Given the description of an element on the screen output the (x, y) to click on. 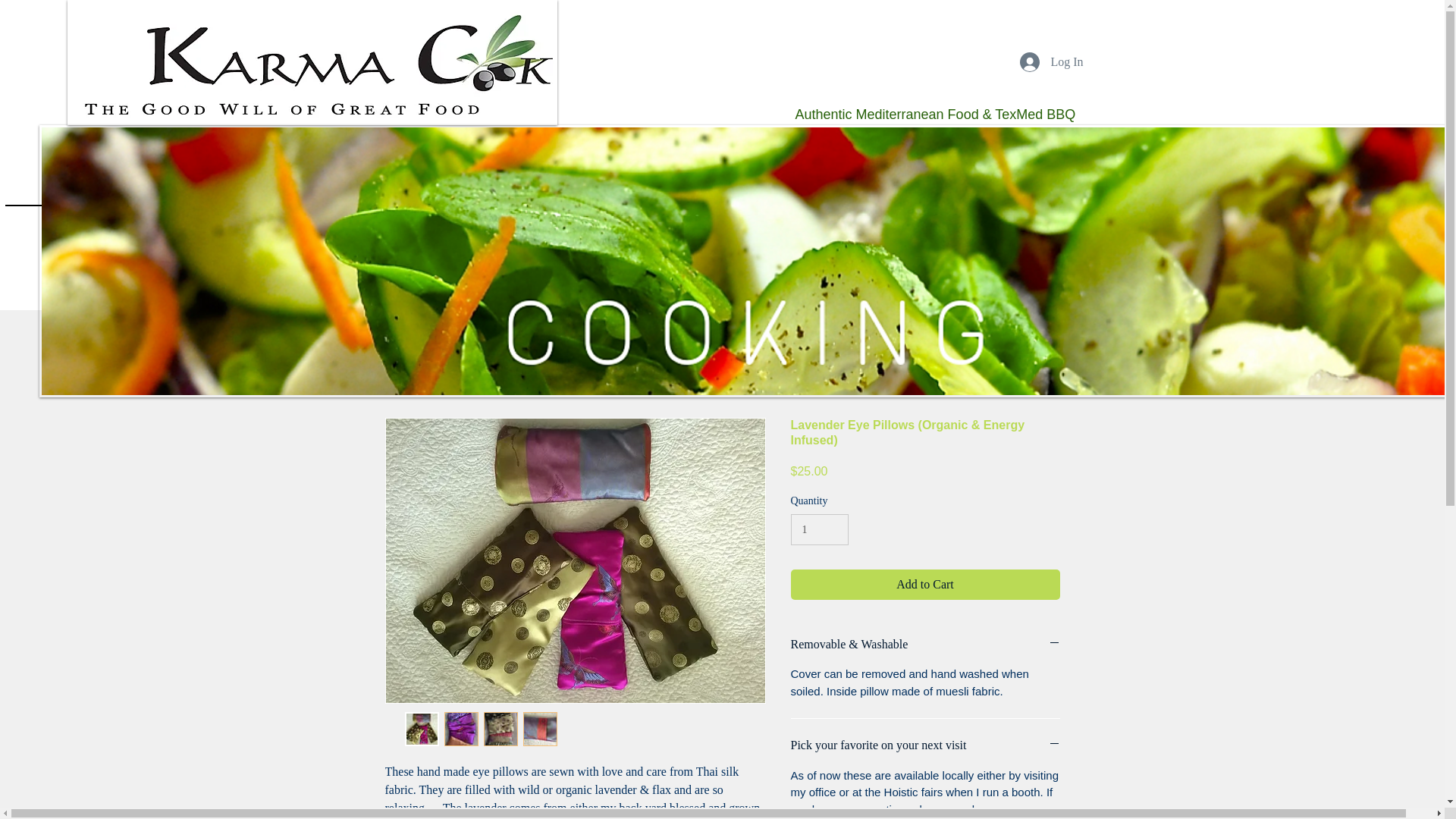
1 (818, 529)
Log In (1051, 61)
Home (722, 271)
Pick your favorite on your next visit (924, 745)
Add to Cart (924, 584)
